Given the description of an element on the screen output the (x, y) to click on. 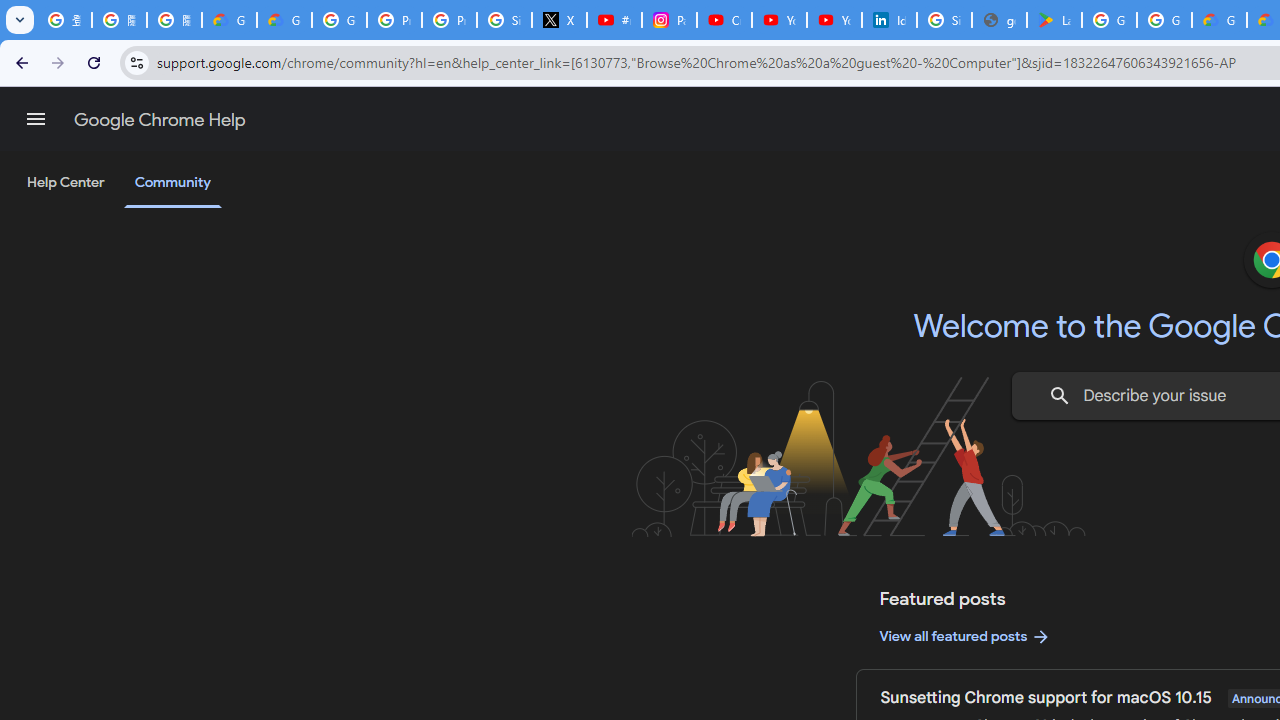
Google Cloud Privacy Notice (229, 20)
Last Shelter: Survival - Apps on Google Play (1053, 20)
